Given the description of an element on the screen output the (x, y) to click on. 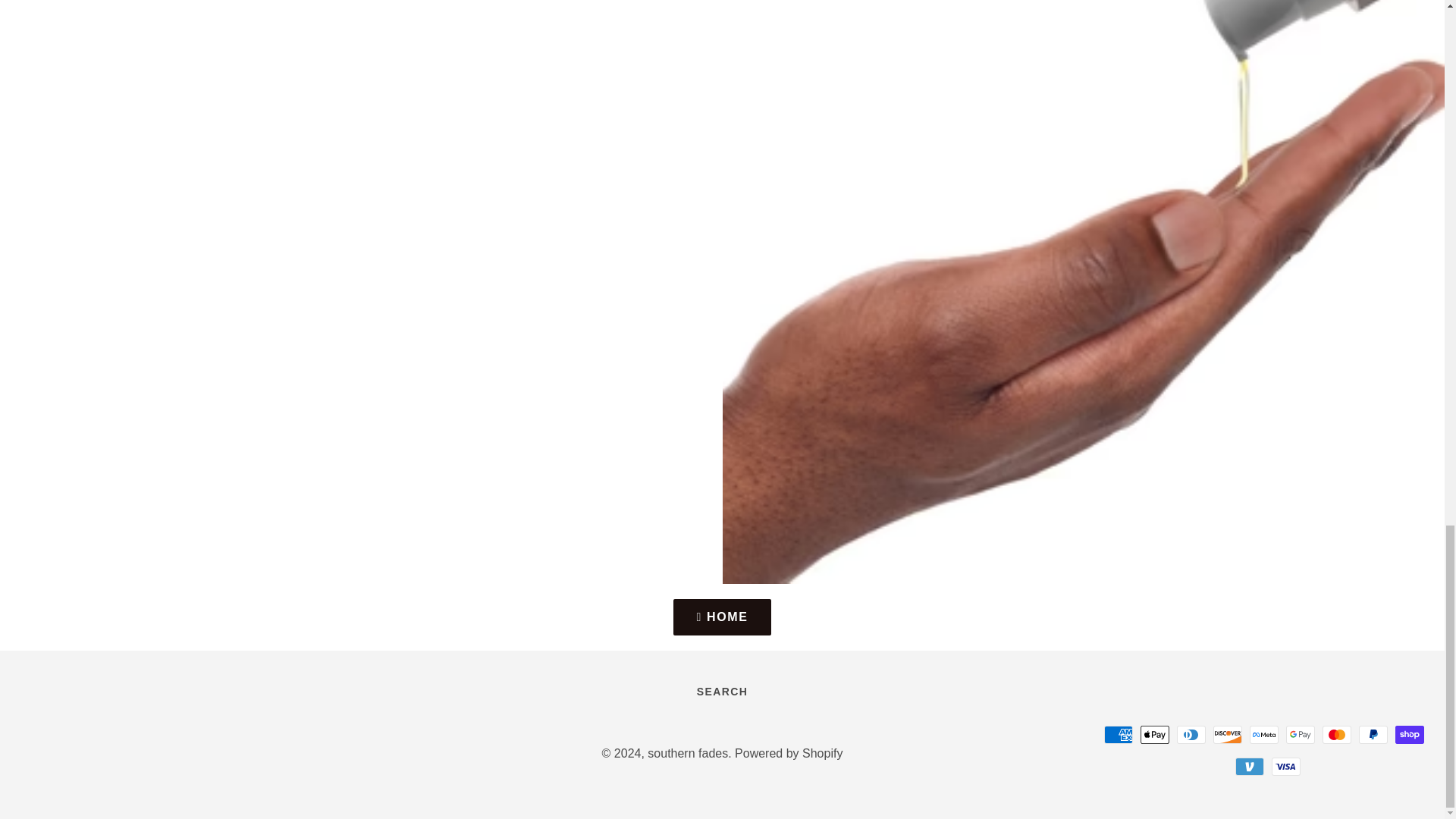
Diners Club (1190, 734)
Shop Pay (1408, 734)
Apple Pay (1154, 734)
American Express (1117, 734)
Meta Pay (1263, 734)
Google Pay (1299, 734)
Powered by Shopify (789, 753)
SEARCH (721, 691)
Discover (1226, 734)
Mastercard (1336, 734)
